Given the description of an element on the screen output the (x, y) to click on. 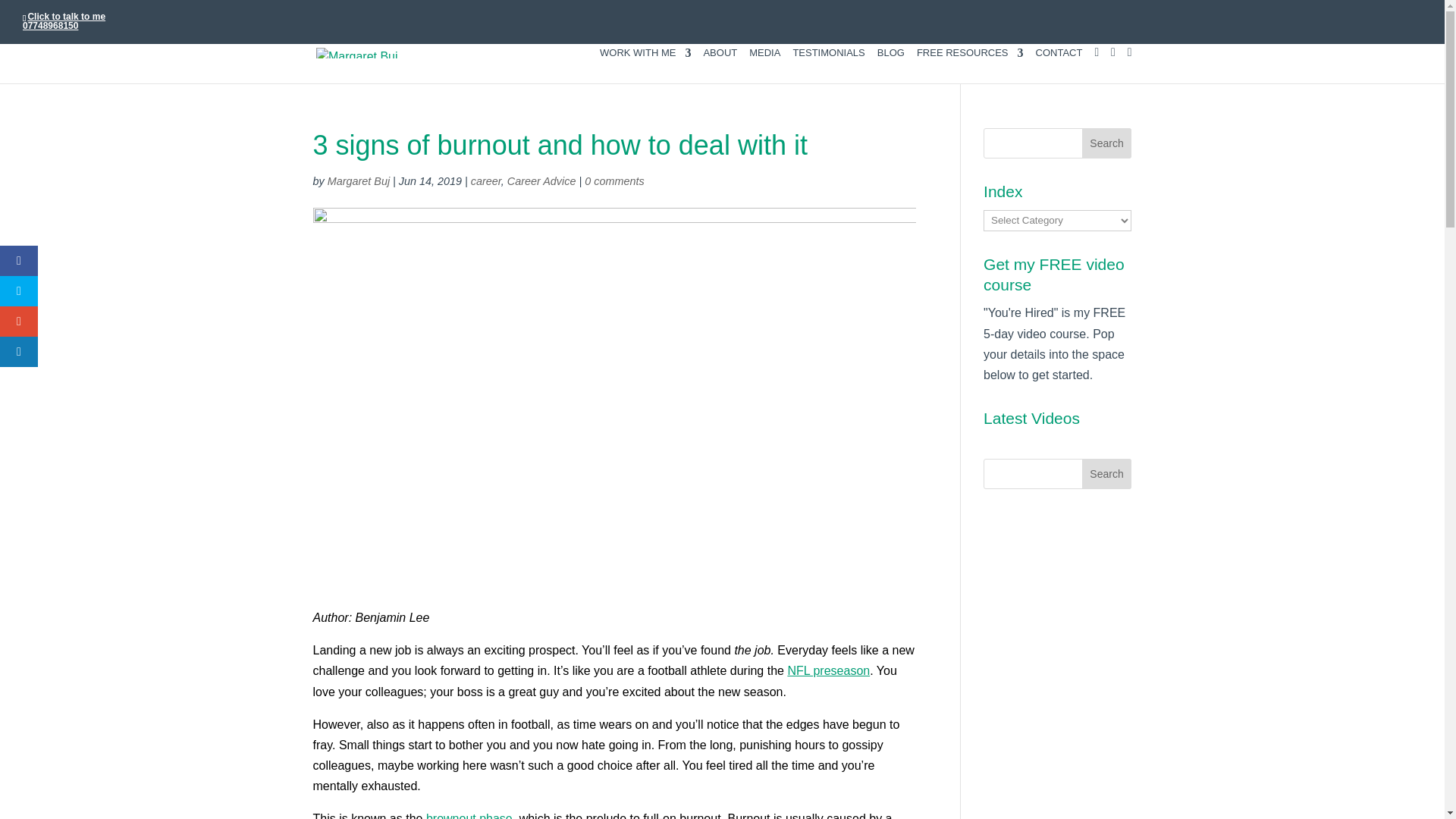
FREE RESOURCES (970, 65)
0 comments (614, 181)
Posts by Margaret Buj (358, 181)
NFL preseason (828, 670)
Click to talk to me 07748968150 (63, 21)
ABOUT (719, 65)
CONTACT (1059, 65)
Search (1106, 142)
Search (1106, 142)
Search (1106, 473)
career (485, 181)
brownout phase (469, 815)
WORK WITH ME (644, 65)
Margaret Buj (358, 181)
TESTIMONIALS (828, 65)
